Given the description of an element on the screen output the (x, y) to click on. 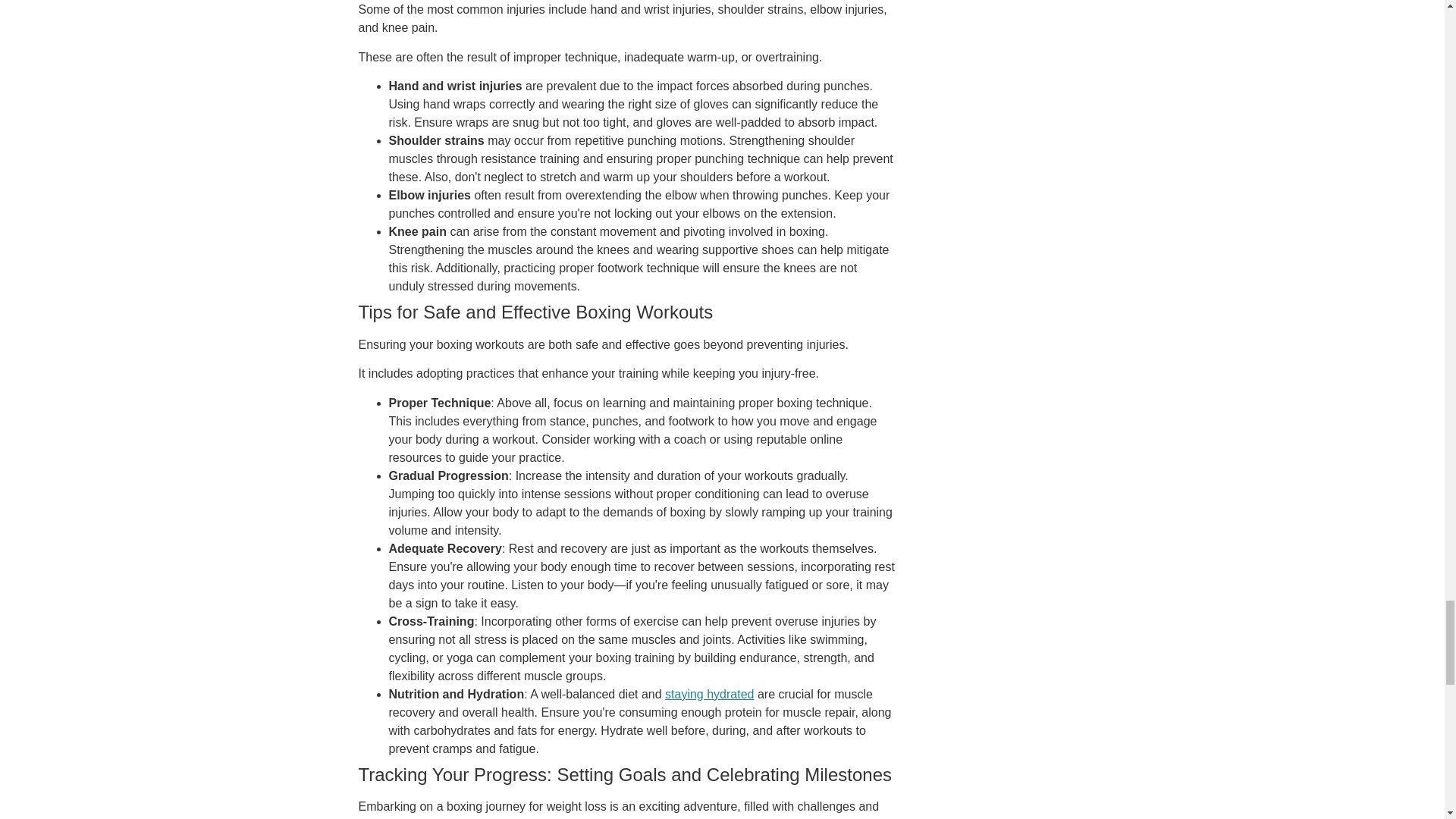
staying hydrated (709, 694)
